Given the description of an element on the screen output the (x, y) to click on. 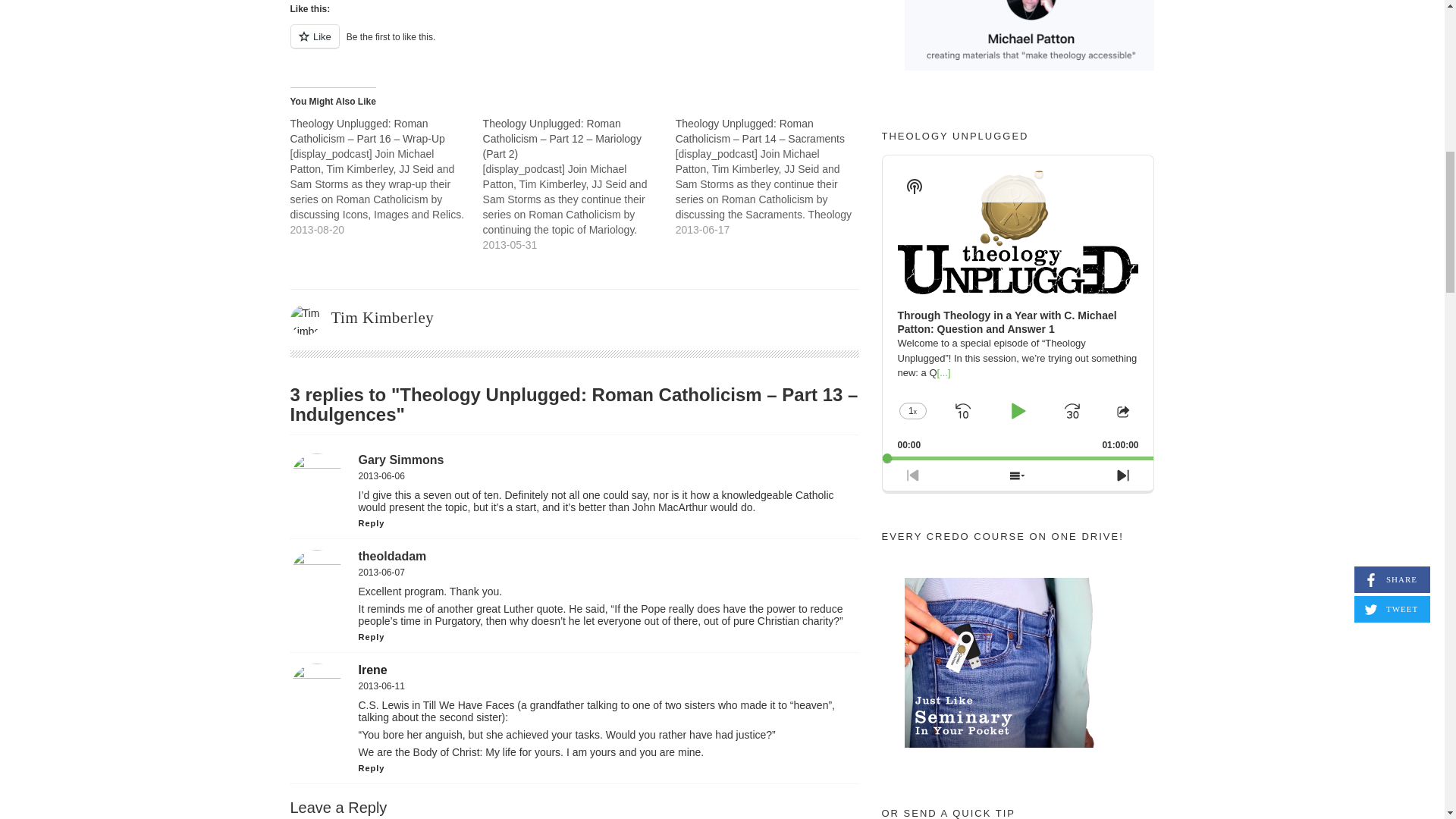
theoldadam (392, 555)
Tim Kimberley (381, 317)
Reply (371, 522)
Like or Reblog (574, 45)
Gary Simmons (401, 459)
